Given the description of an element on the screen output the (x, y) to click on. 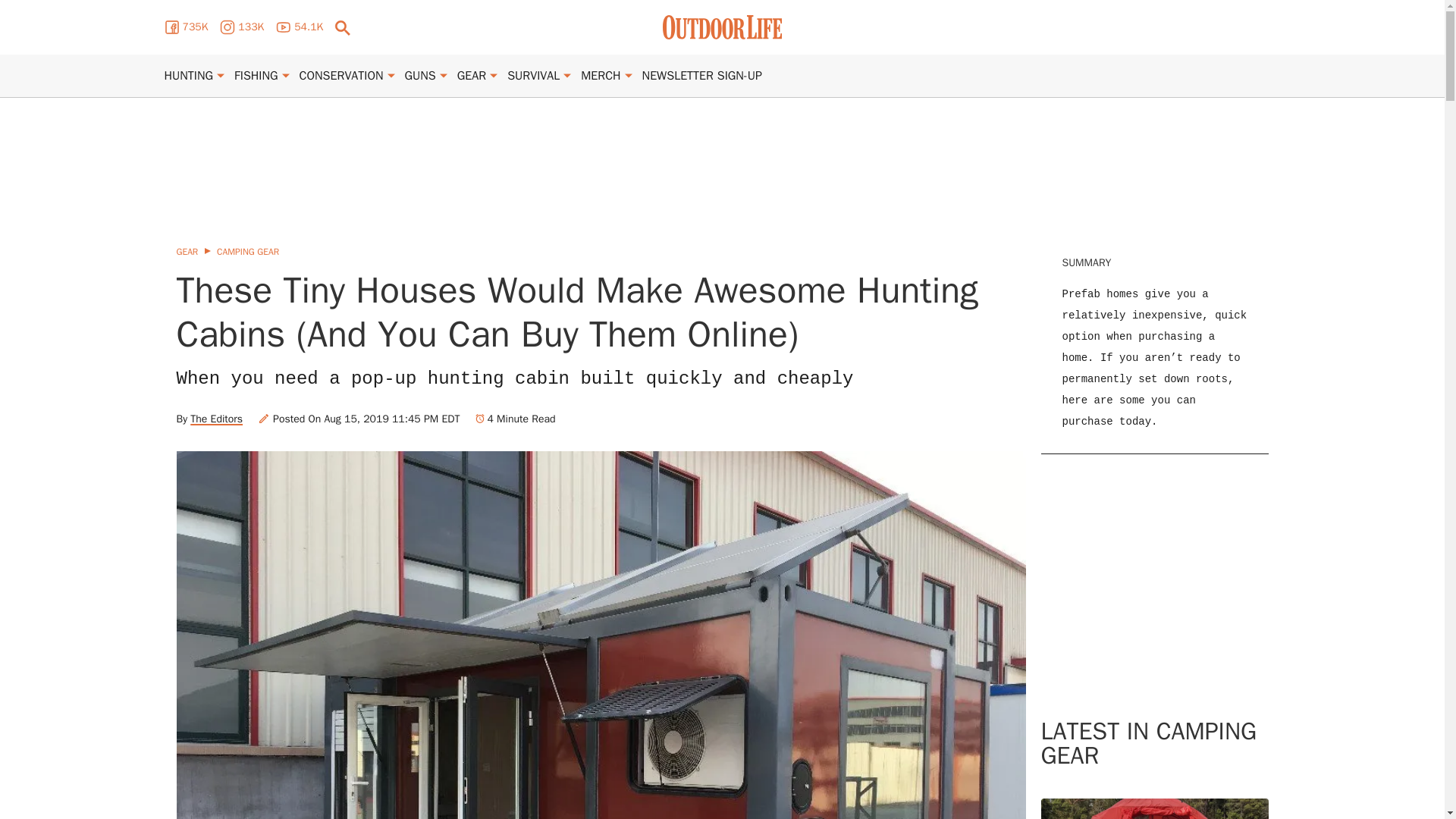
Guns (419, 75)
Newsletter Sign-up (701, 75)
Hunting (187, 75)
Survival (532, 75)
Fishing (256, 75)
Conservation (341, 75)
Merch (600, 75)
Gear (471, 75)
